Given the description of an element on the screen output the (x, y) to click on. 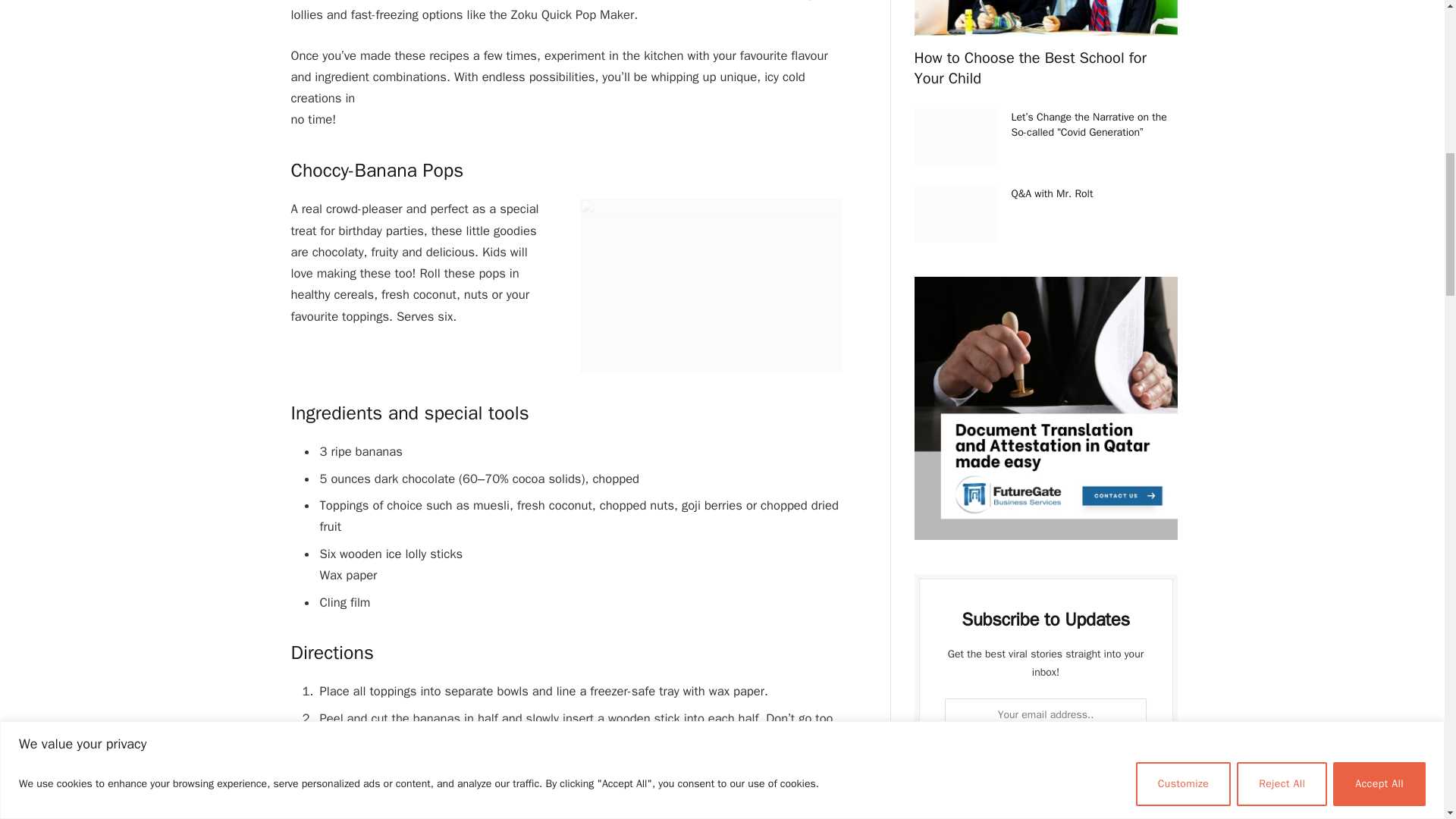
Subscribe (1045, 757)
on (956, 794)
